Given the description of an element on the screen output the (x, y) to click on. 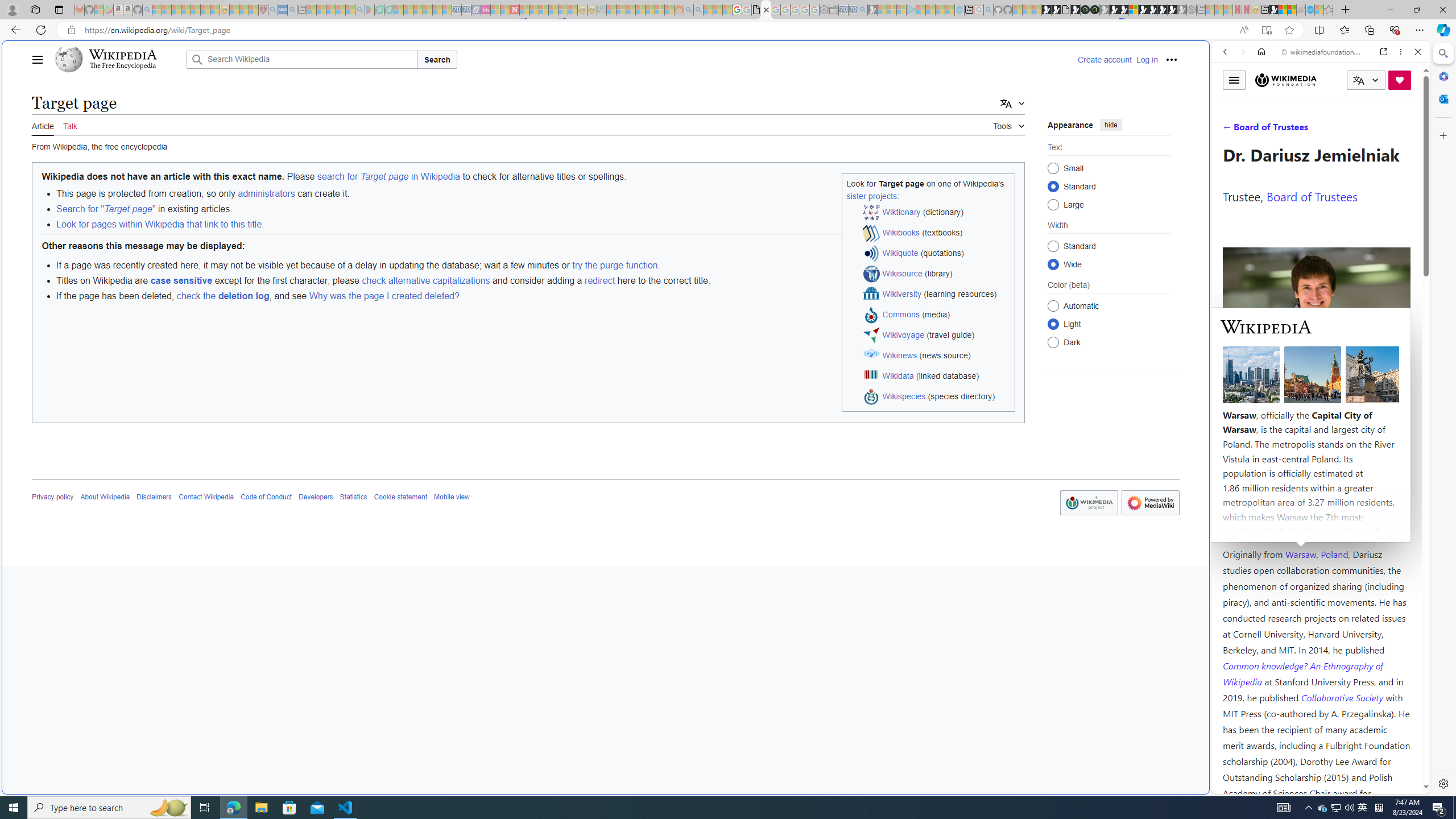
Wikibooks (textbooks) (936, 233)
Statistics (352, 497)
MSNBC - MSN - Sleeping (611, 9)
Wikivoyage (903, 334)
DITOGAMES AG Imprint - Sleeping (601, 9)
google_privacy_policy_zh-CN.pdf (755, 9)
Services - Maintenance | Sky Blue Bikes - Sky Blue Bikes (1309, 9)
Contact Wikipedia (206, 496)
